Given the description of an element on the screen output the (x, y) to click on. 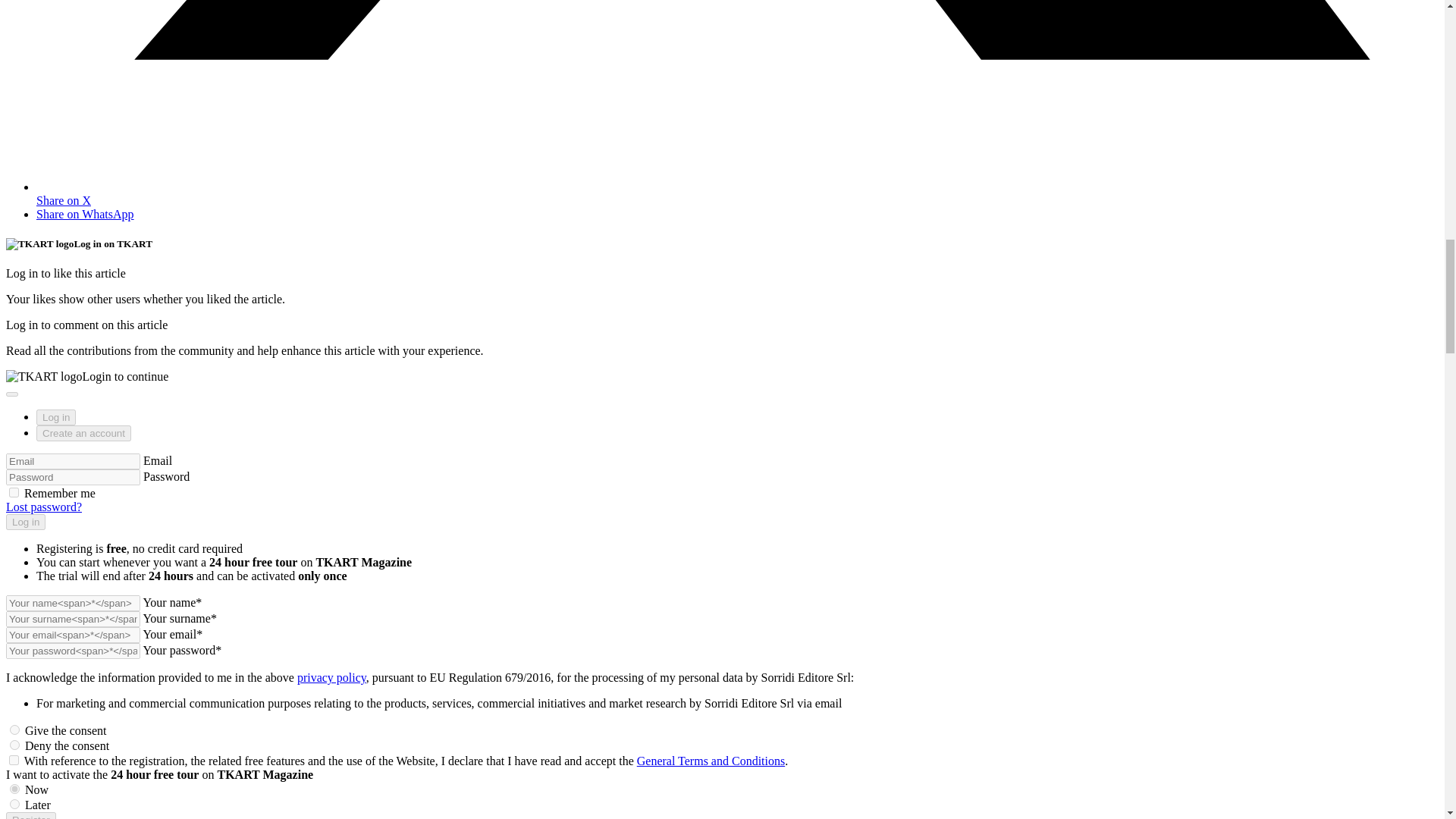
privacy policy (331, 676)
0 (15, 745)
1 (13, 759)
Log in (25, 521)
1 (15, 788)
Lost password? (43, 506)
0 (15, 804)
Register (30, 815)
General Terms and Conditions (710, 760)
Create an account (83, 433)
